Given the description of an element on the screen output the (x, y) to click on. 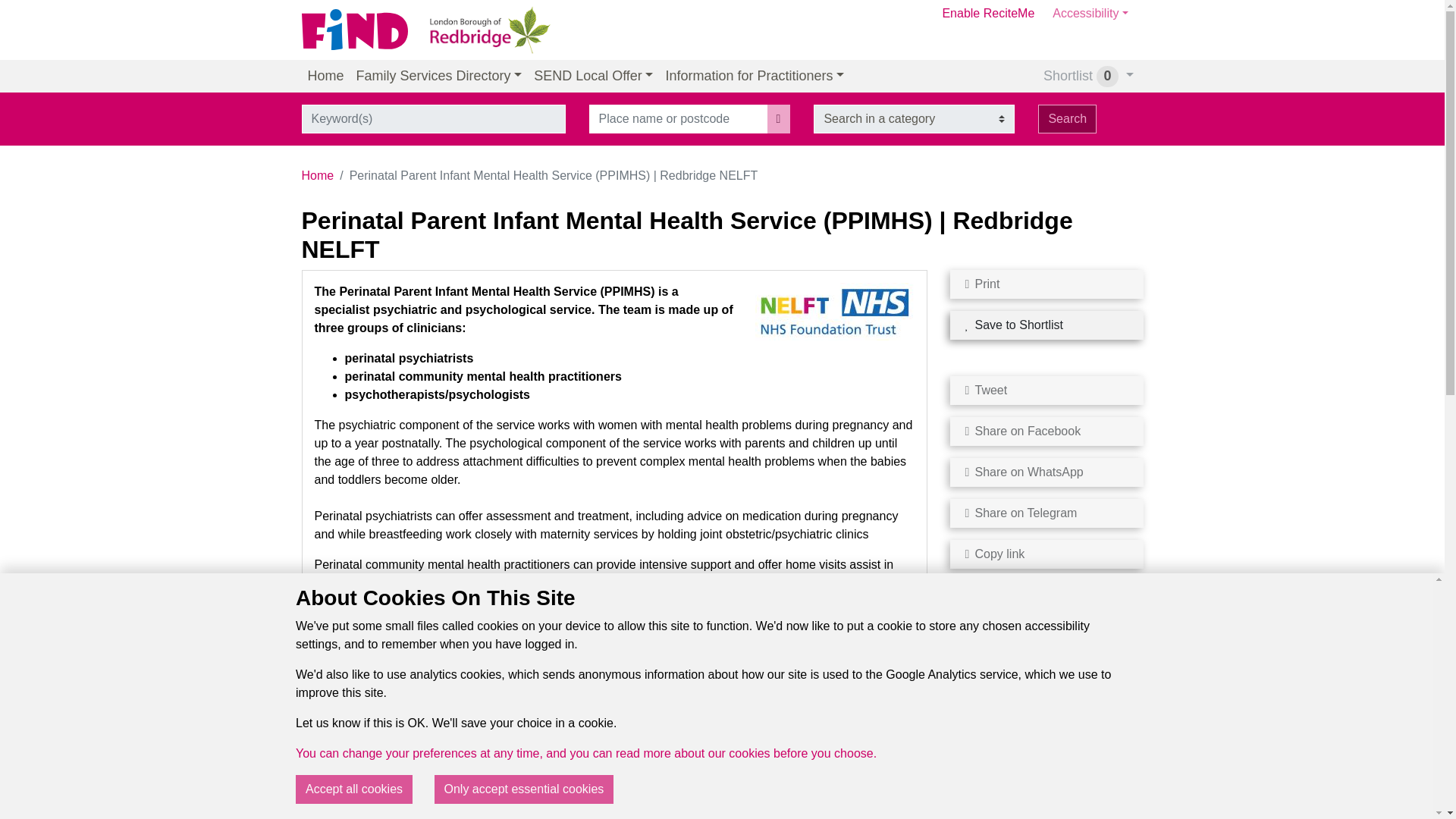
Accept all cookies (353, 788)
Only accept essential cookies (523, 788)
FiND home page (360, 29)
SEND Local Offer (593, 75)
Enable ReciteMe (988, 29)
Accessibility (1090, 13)
Family Services Directory (439, 75)
Accessibility (1090, 13)
Home (325, 75)
Information for Practitioners (754, 75)
